Given the description of an element on the screen output the (x, y) to click on. 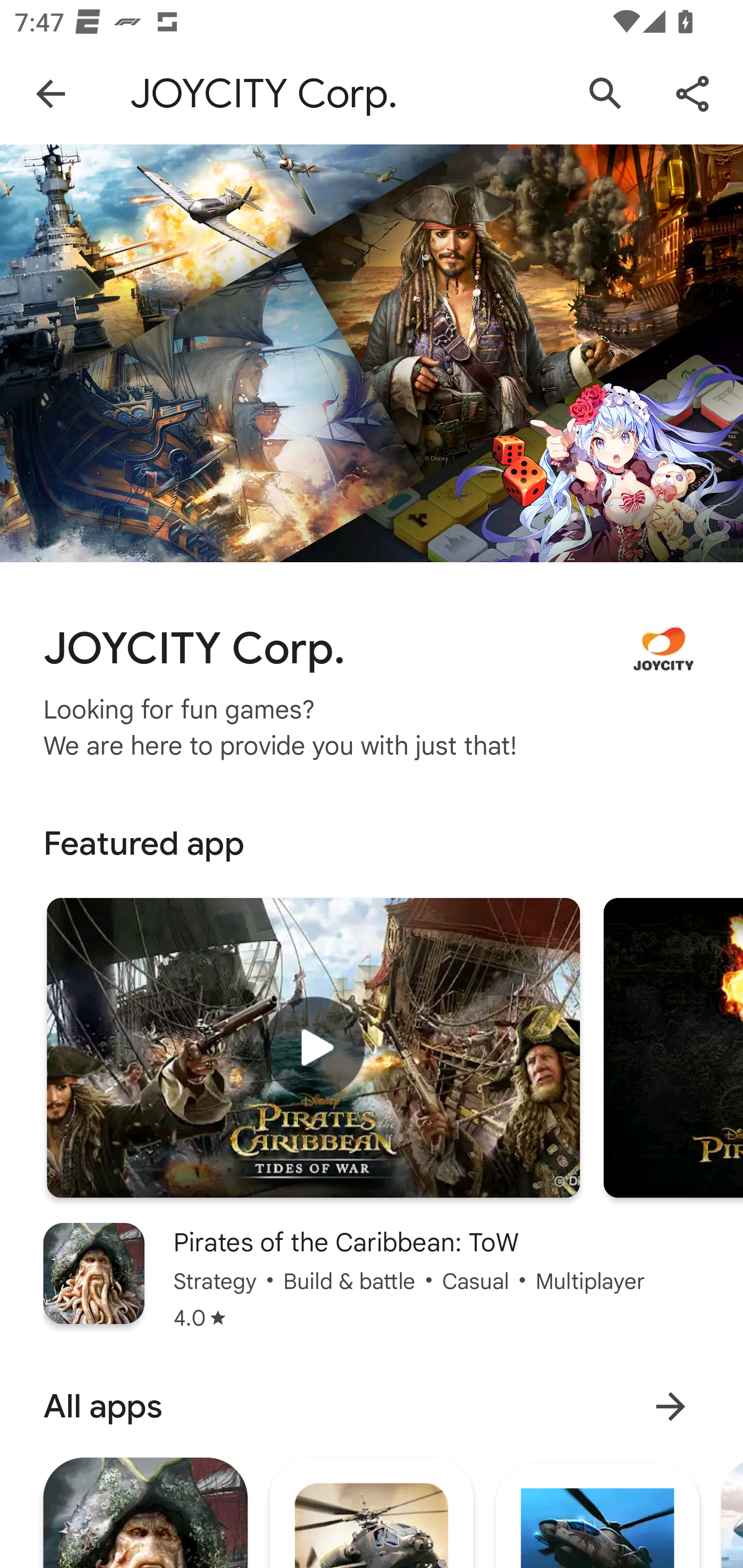
Navigate up (50, 93)
Search Google Play (605, 93)
Share (692, 93)
Play trailer for "Pirates of the Caribbean: ToW" (313, 1047)
All apps More results for All apps (371, 1406)
More results for All apps (670, 1406)
